Given the description of an element on the screen output the (x, y) to click on. 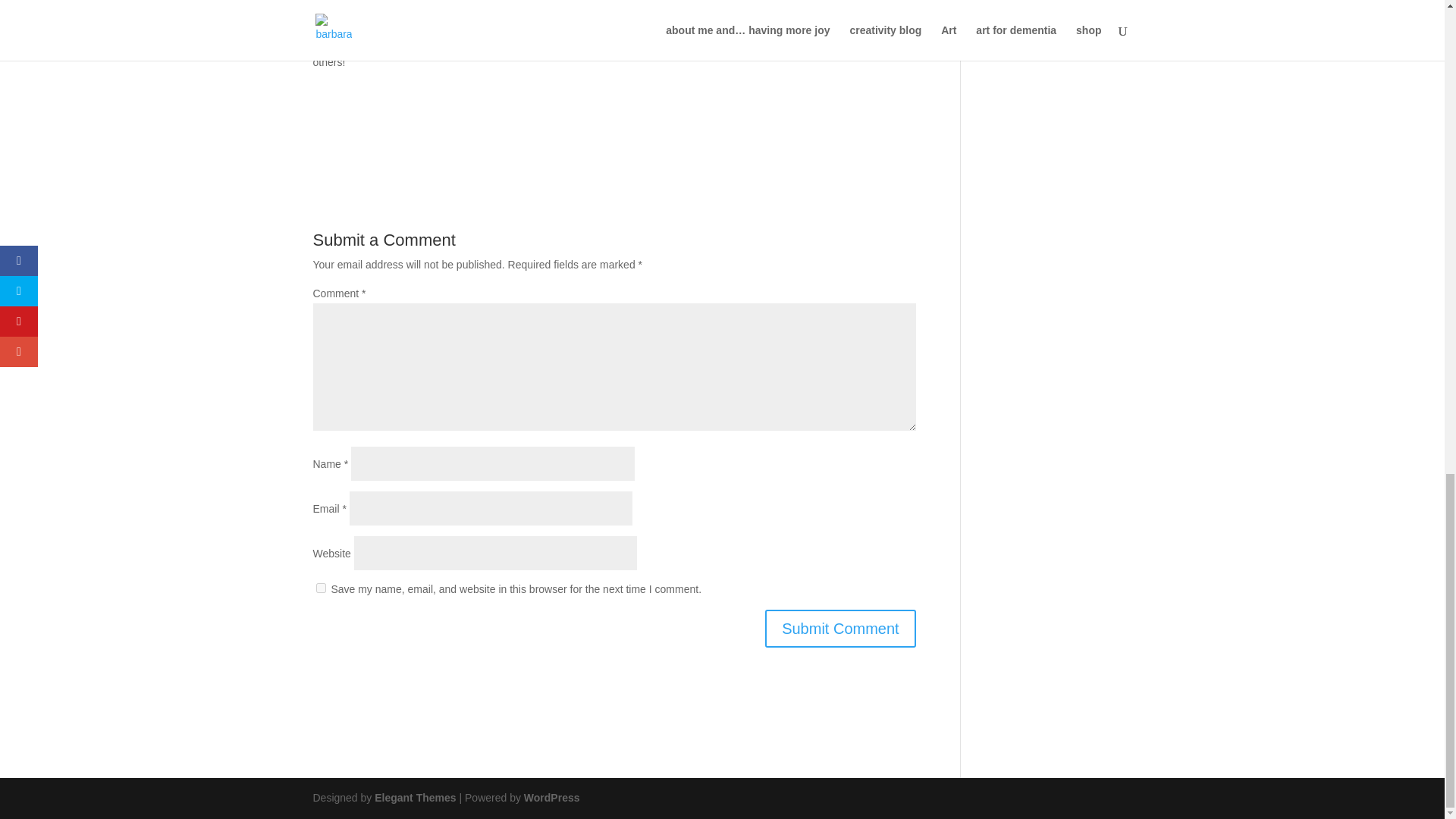
Elegant Themes (414, 797)
Submit Comment (840, 628)
yes (319, 587)
Premium WordPress Themes (414, 797)
Submit Comment (840, 628)
WordPress (551, 797)
